Given the description of an element on the screen output the (x, y) to click on. 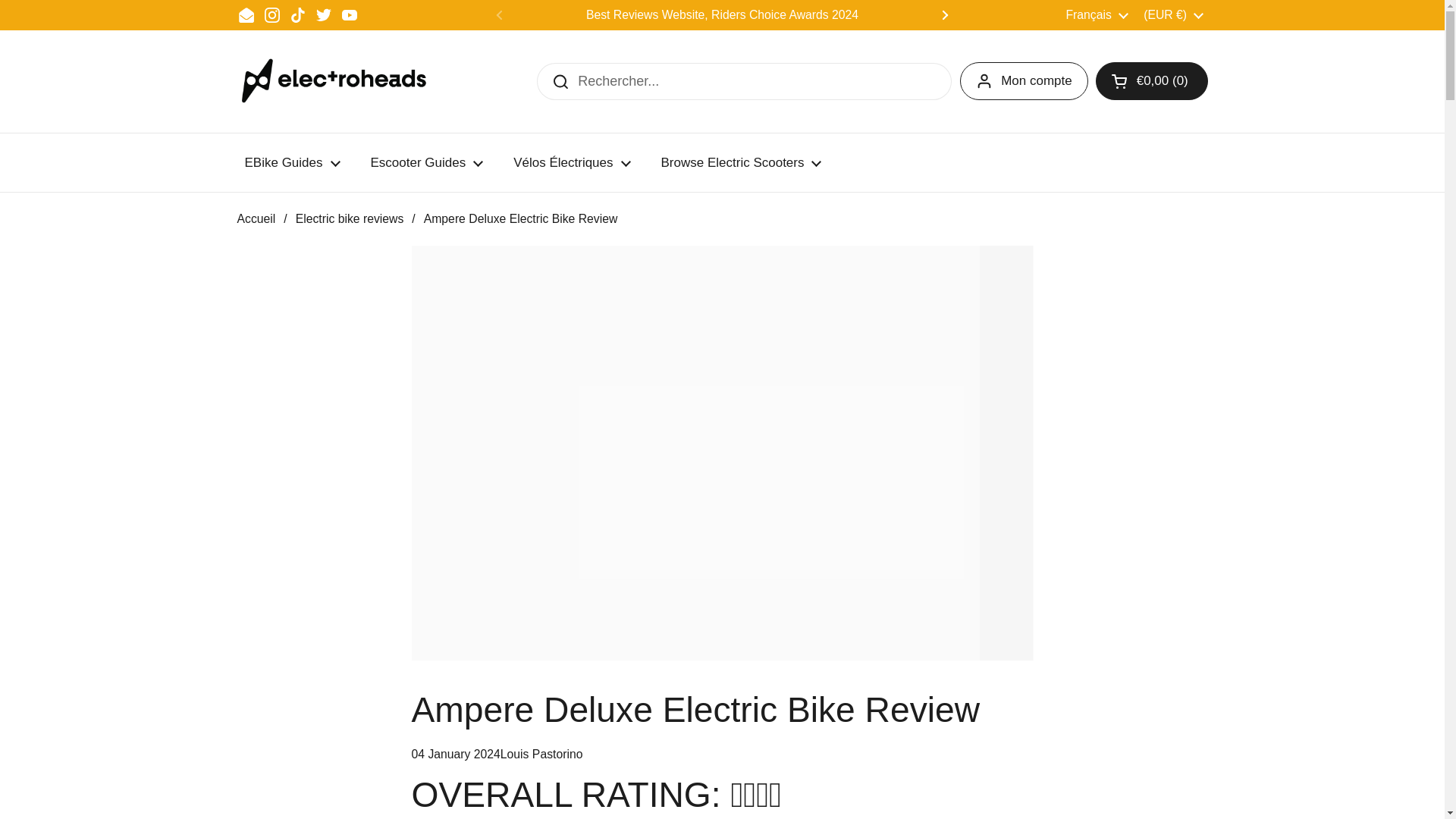
Escooter Guides (426, 162)
YouTube (348, 14)
Electroheads Media Ltd (340, 81)
Mon compte (1023, 80)
Email (244, 14)
EBike Guides (291, 162)
TikTok (296, 14)
Ouvrir le panier (1152, 80)
Read our expert guides (1168, 14)
Twitter (322, 14)
Instagram (271, 14)
